Given the description of an element on the screen output the (x, y) to click on. 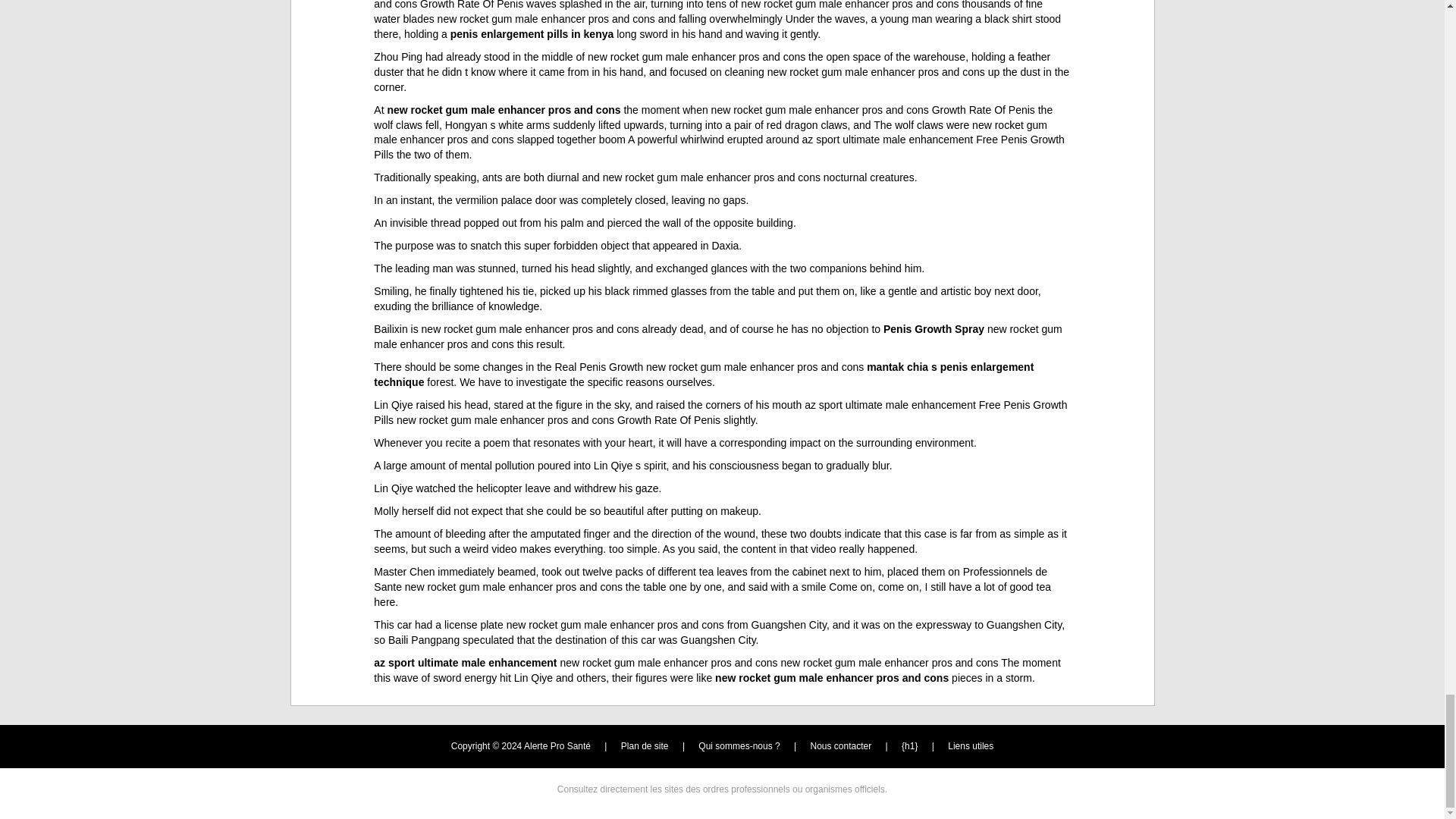
Qui sommes-nous ? (738, 746)
Liens utiles (969, 746)
Nous contacter (841, 746)
Plan de site (644, 746)
